Given the description of an element on the screen output the (x, y) to click on. 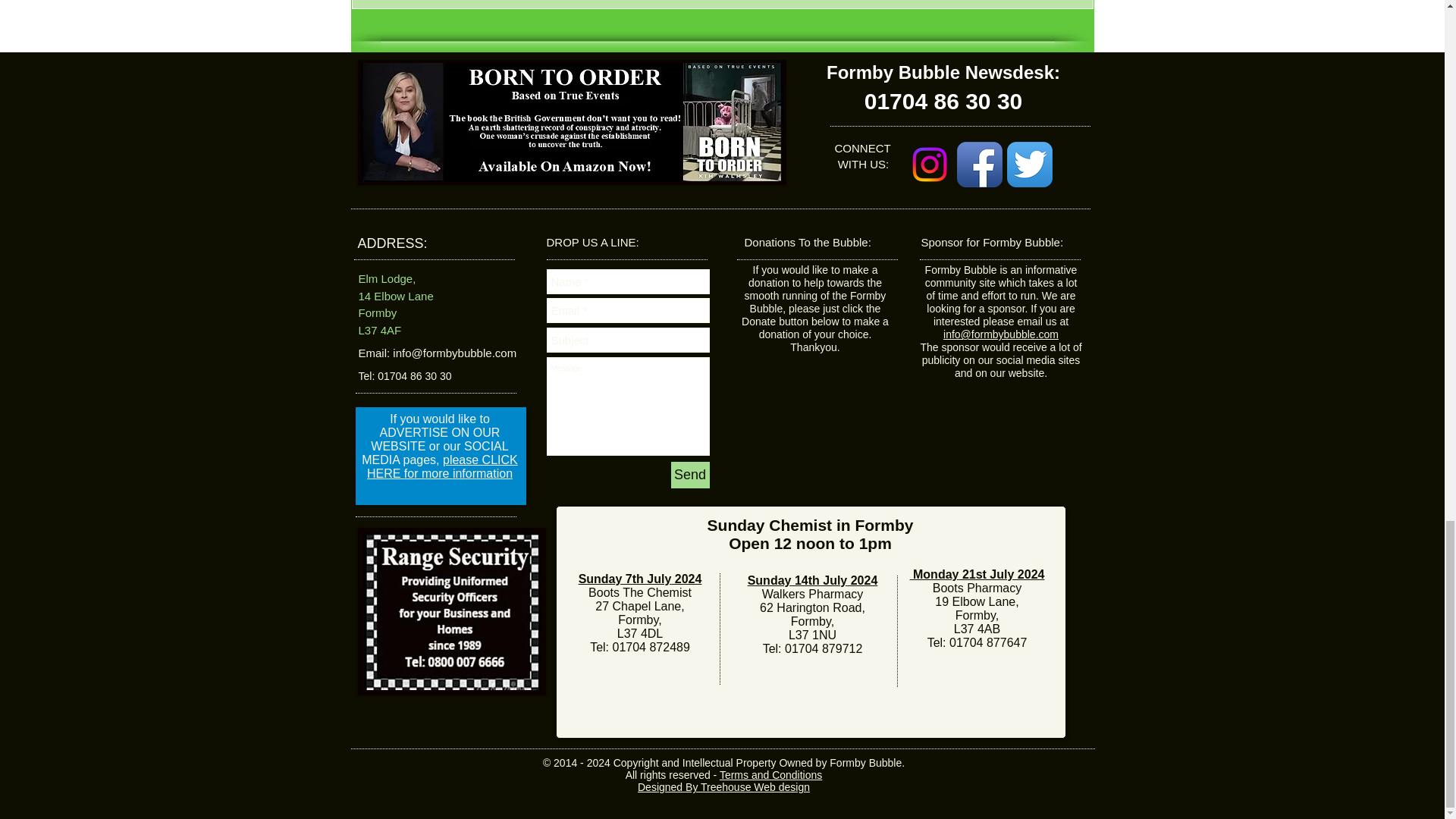
banner-master.jpg (572, 122)
banner-master.jpg (452, 611)
